Given the description of an element on the screen output the (x, y) to click on. 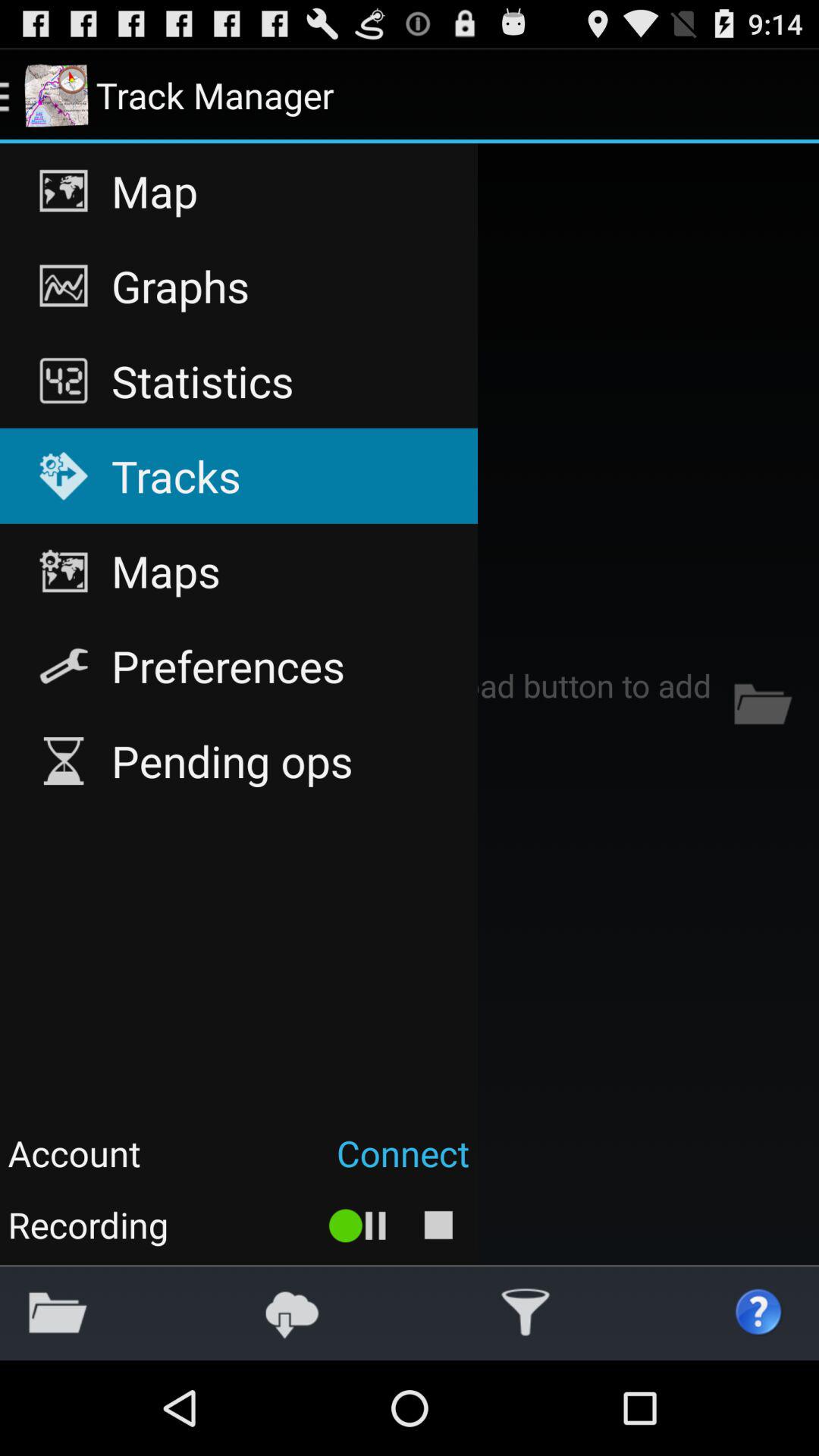
turn off the maps icon (238, 570)
